Given the description of an element on the screen output the (x, y) to click on. 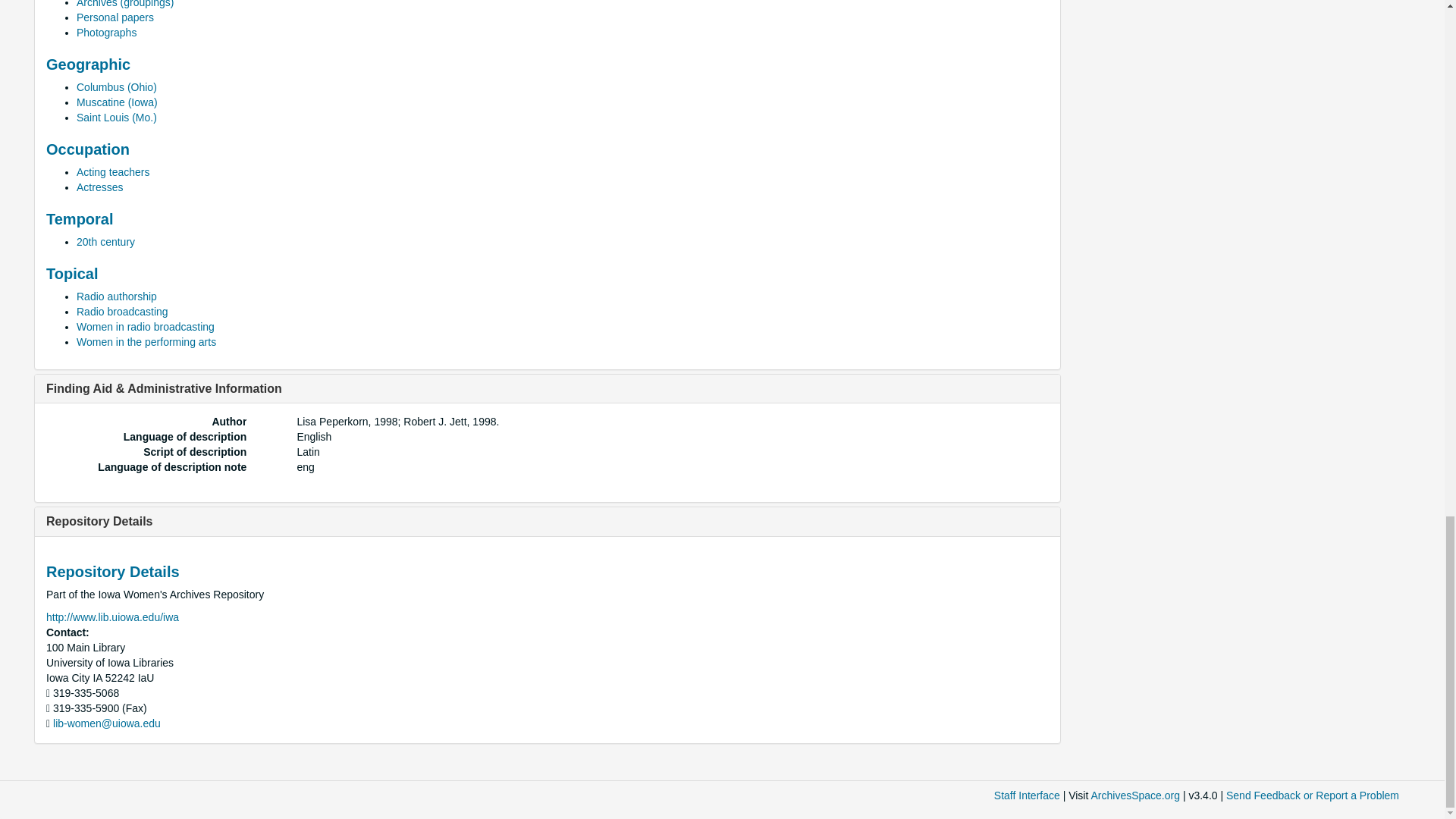
Actresses (99, 186)
Radio broadcasting (122, 311)
Photographs (106, 32)
Send email (106, 723)
Radio authorship (117, 296)
Acting teachers (113, 172)
Personal papers (115, 17)
20th century (106, 241)
